Given the description of an element on the screen output the (x, y) to click on. 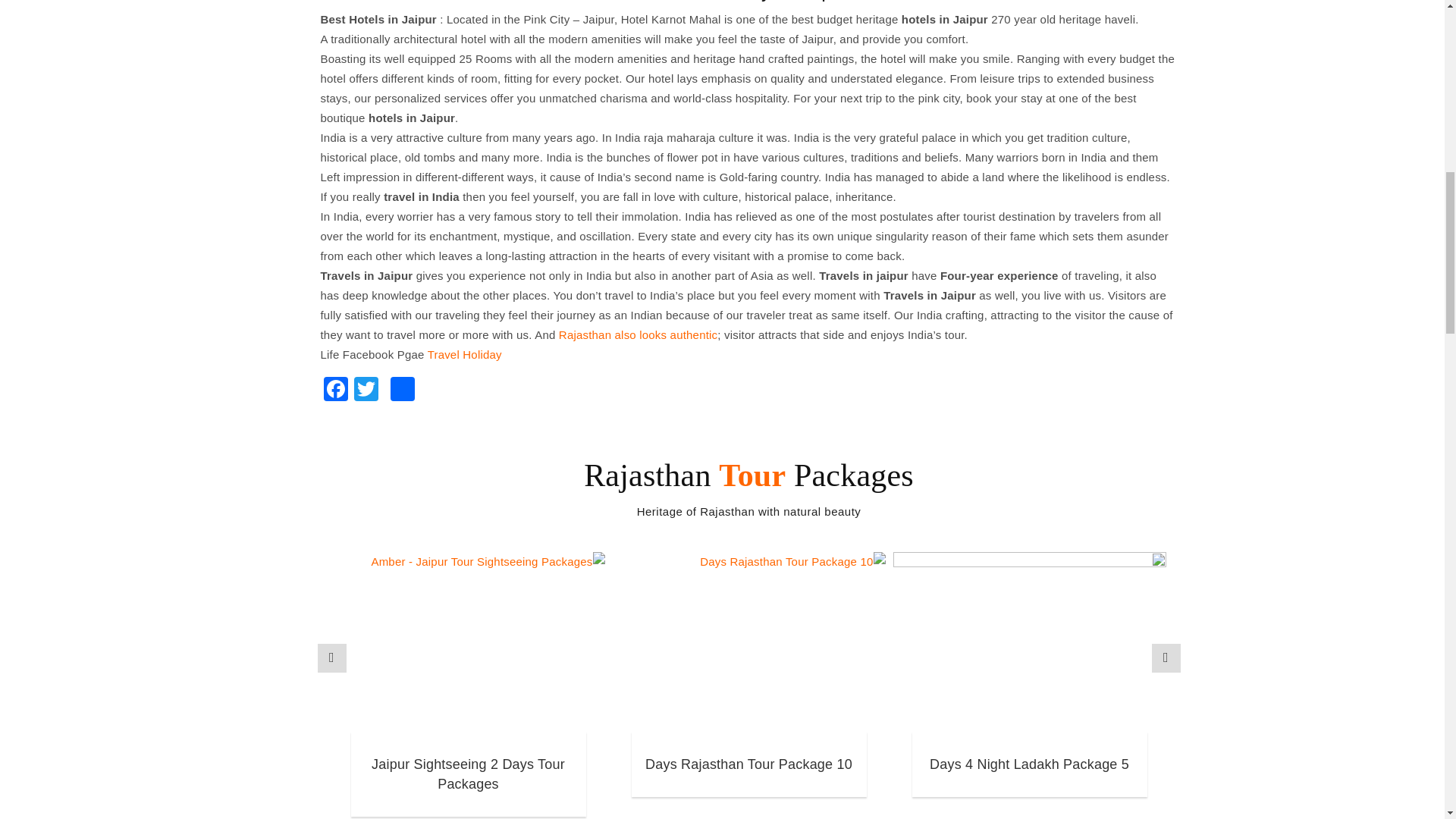
Twitter (365, 390)
Rajasthan also looks authentic (638, 334)
Facebook (335, 390)
